Given the description of an element on the screen output the (x, y) to click on. 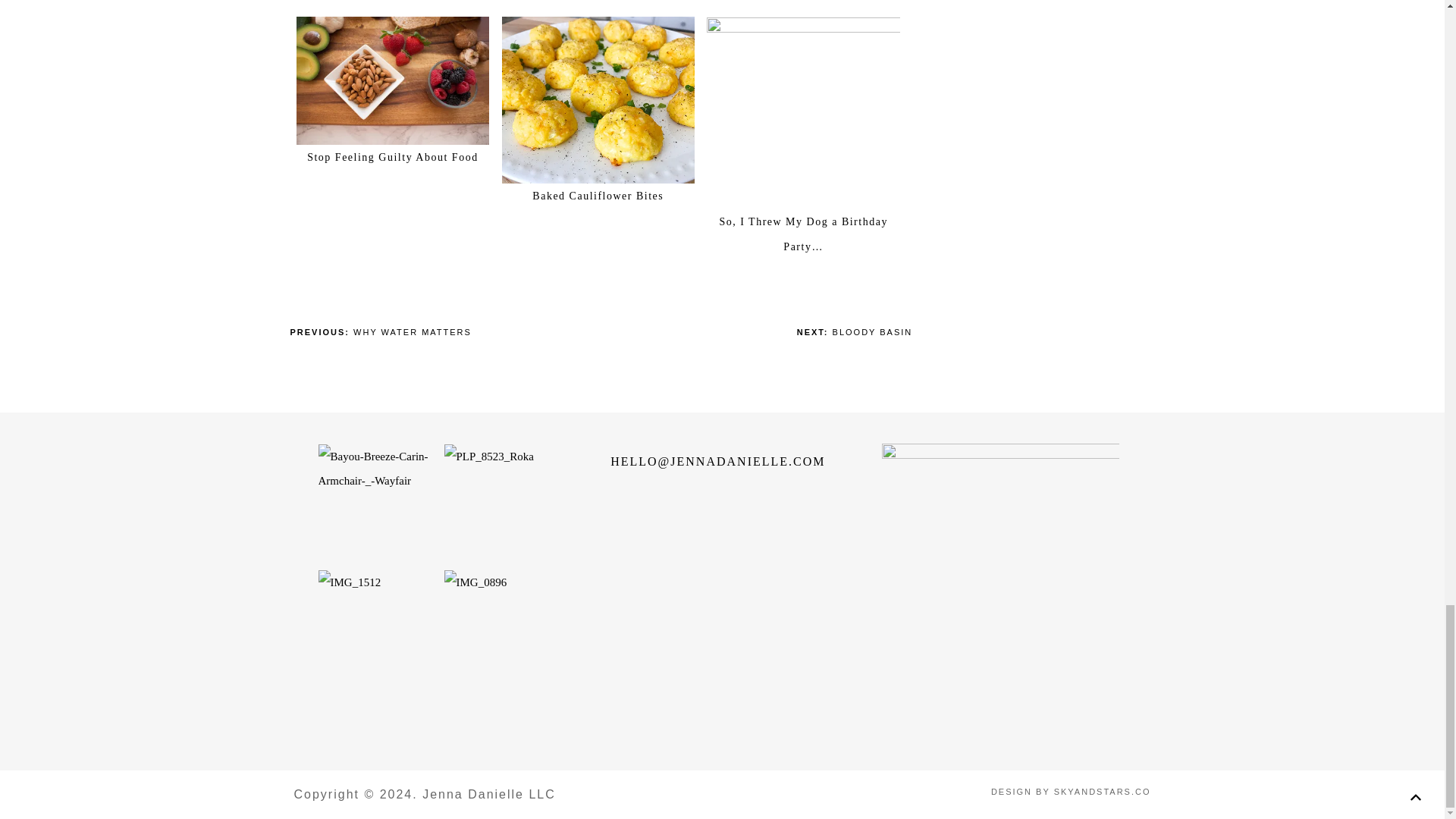
Baked Cauliflower Bites (597, 195)
Stop Feeling Guilty About Food (392, 156)
Permanent Link to Baked Cauliflower Bites (597, 195)
Permanent Link to Stop Feeling Guilty About Food (393, 28)
Permanent Link to Baked Cauliflower Bites (598, 28)
Permanent Link to Stop Feeling Guilty About Food (392, 156)
